Given the description of an element on the screen output the (x, y) to click on. 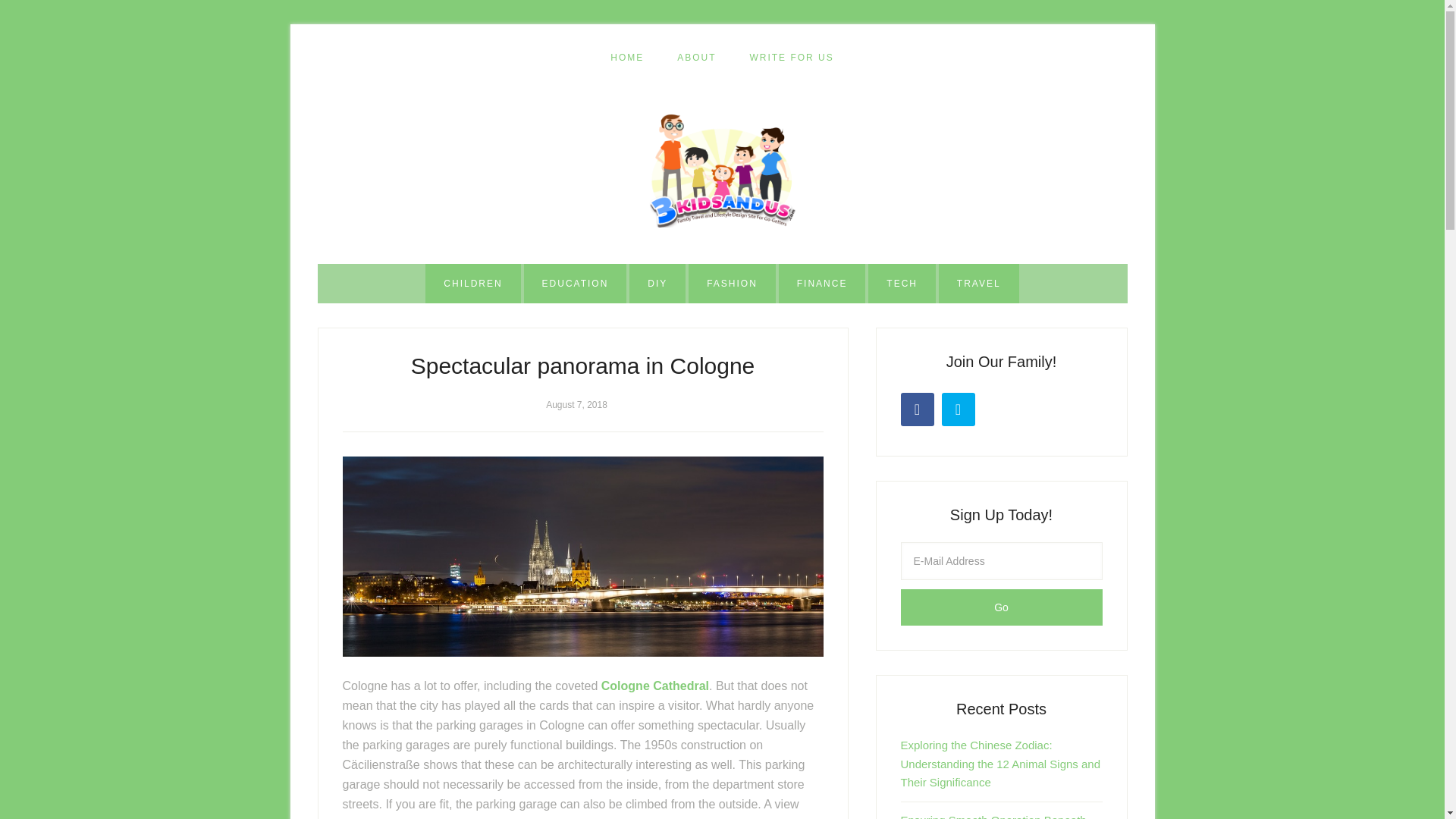
DIY (656, 283)
FINANCE (822, 283)
HOME (627, 57)
3 Kids and Us (721, 170)
FASHION (732, 283)
Go (1001, 606)
TRAVEL (979, 283)
Cologne Cathedral (655, 685)
CHILDREN (472, 283)
ABOUT (696, 57)
